Given the description of an element on the screen output the (x, y) to click on. 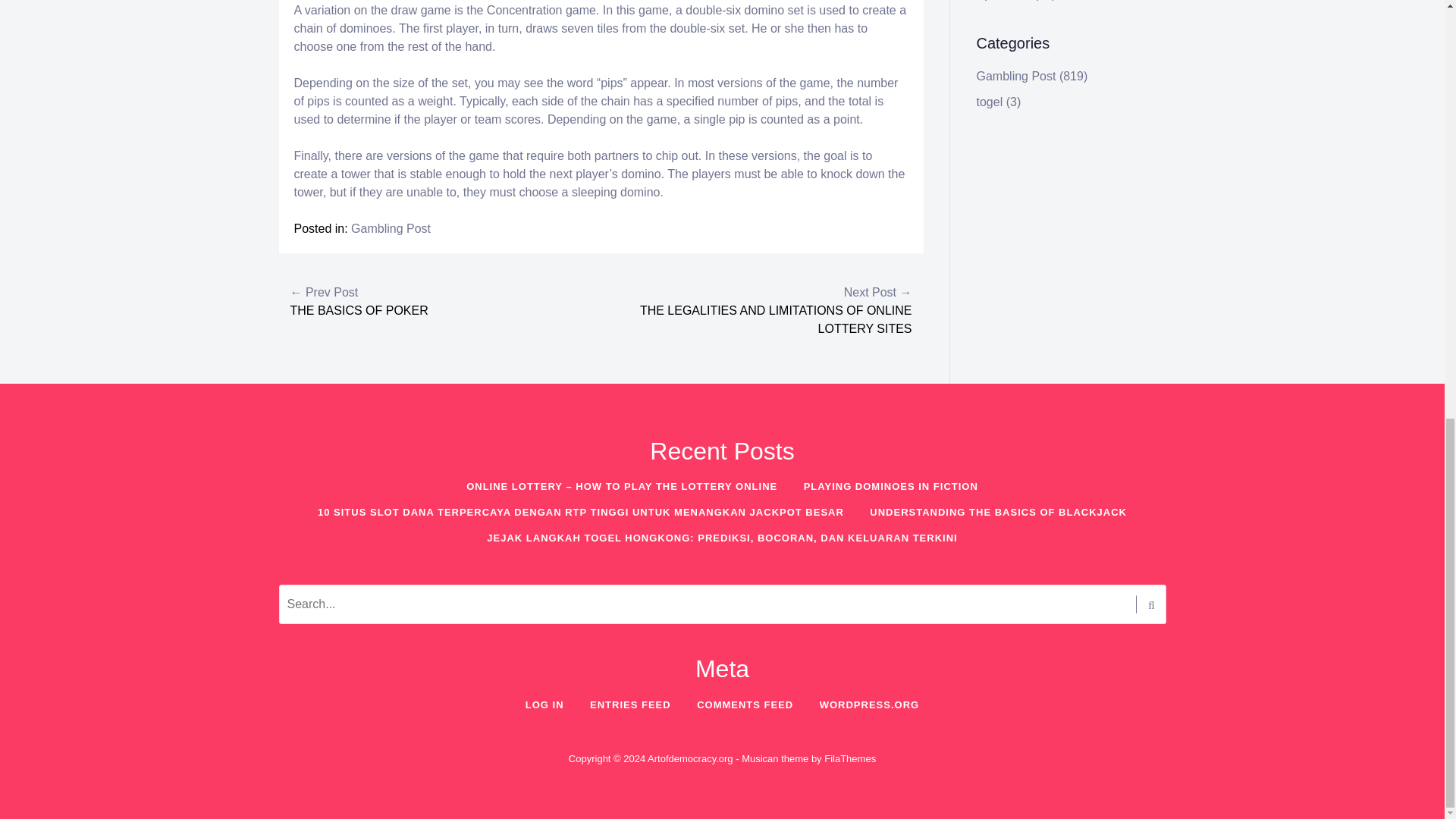
Artofdemocracy.org (689, 758)
Gambling Post (390, 228)
